Given the description of an element on the screen output the (x, y) to click on. 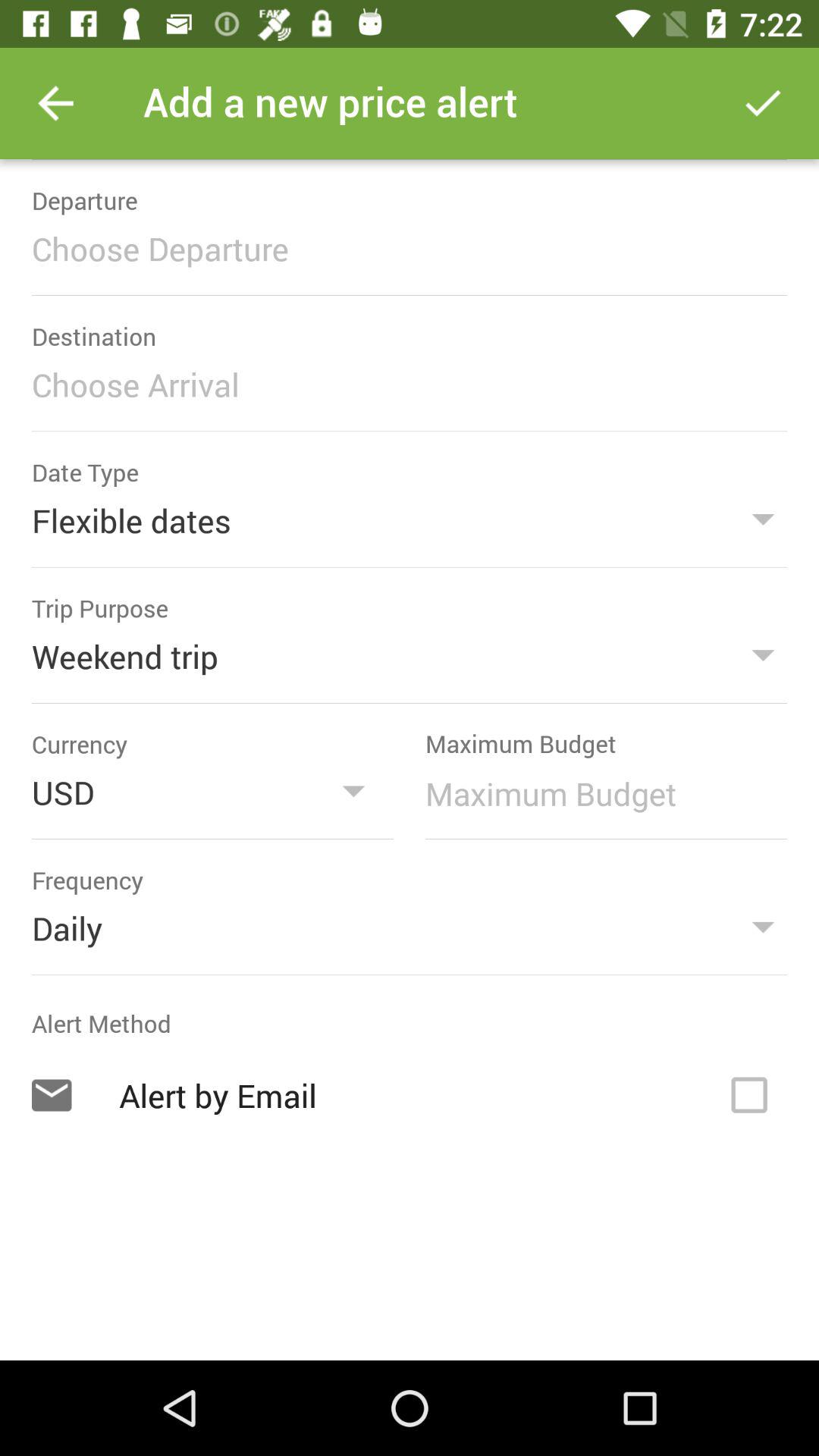
maximum budget entry (598, 793)
